Given the description of an element on the screen output the (x, y) to click on. 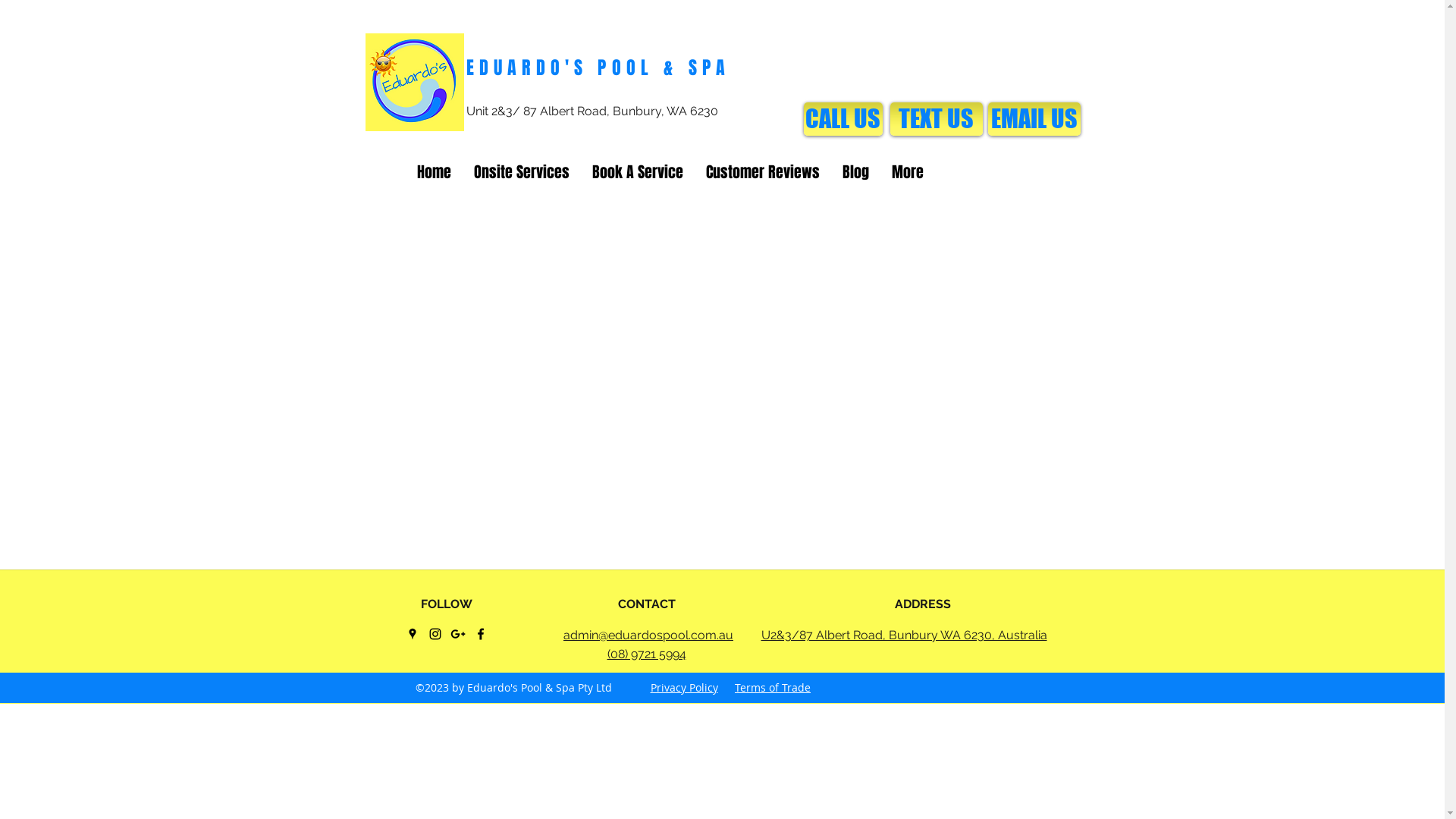
U2&3/87 Albert Road, Bunbury WA 6230, Australia Element type: text (904, 634)
TEXT US Element type: text (936, 118)
CALL US Element type: text (842, 118)
Blog Element type: text (855, 171)
(08) 9721 5994 Element type: text (645, 653)
admin@eduardospool.com.au Element type: text (648, 634)
Home Element type: text (432, 171)
Privacy Policy Element type: text (684, 687)
Onsite Services Element type: text (521, 171)
Customer Reviews Element type: text (762, 171)
Book A Service Element type: text (637, 171)
EMAIL US Element type: text (1033, 118)
Terms of Trade Element type: text (772, 687)
